Given the description of an element on the screen output the (x, y) to click on. 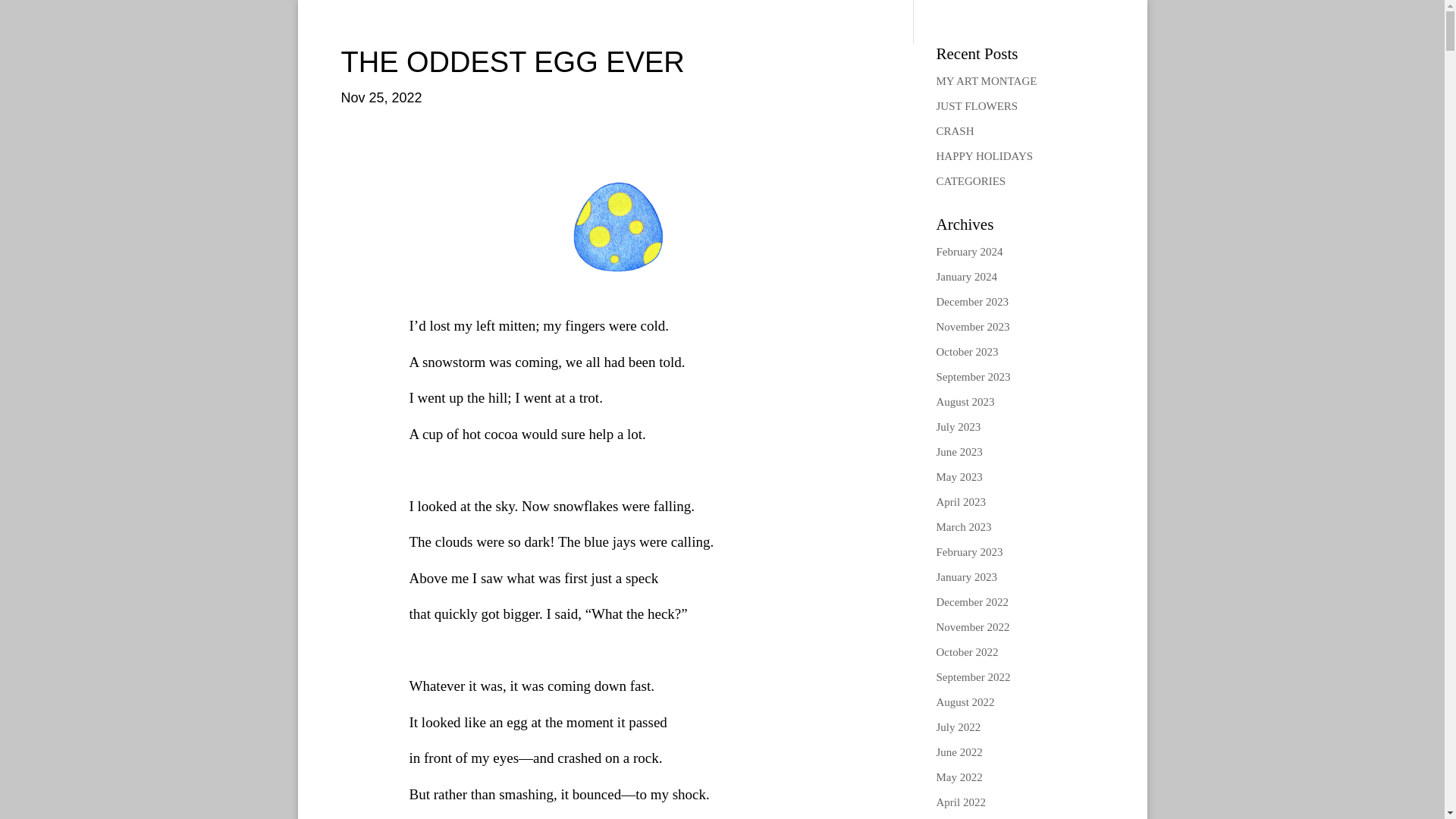
May 2023 (958, 476)
November 2022 (972, 626)
HAPPY HOLIDAYS (984, 155)
MY ART MONTAGE (986, 80)
April 2023 (960, 501)
February 2023 (969, 551)
January 2023 (965, 576)
CATEGORIES (971, 181)
August 2023 (965, 401)
September 2023 (973, 377)
February 2024 (969, 251)
July 2022 (957, 727)
JUST FLOWERS (976, 105)
June 2022 (958, 752)
June 2023 (958, 451)
